Given the description of an element on the screen output the (x, y) to click on. 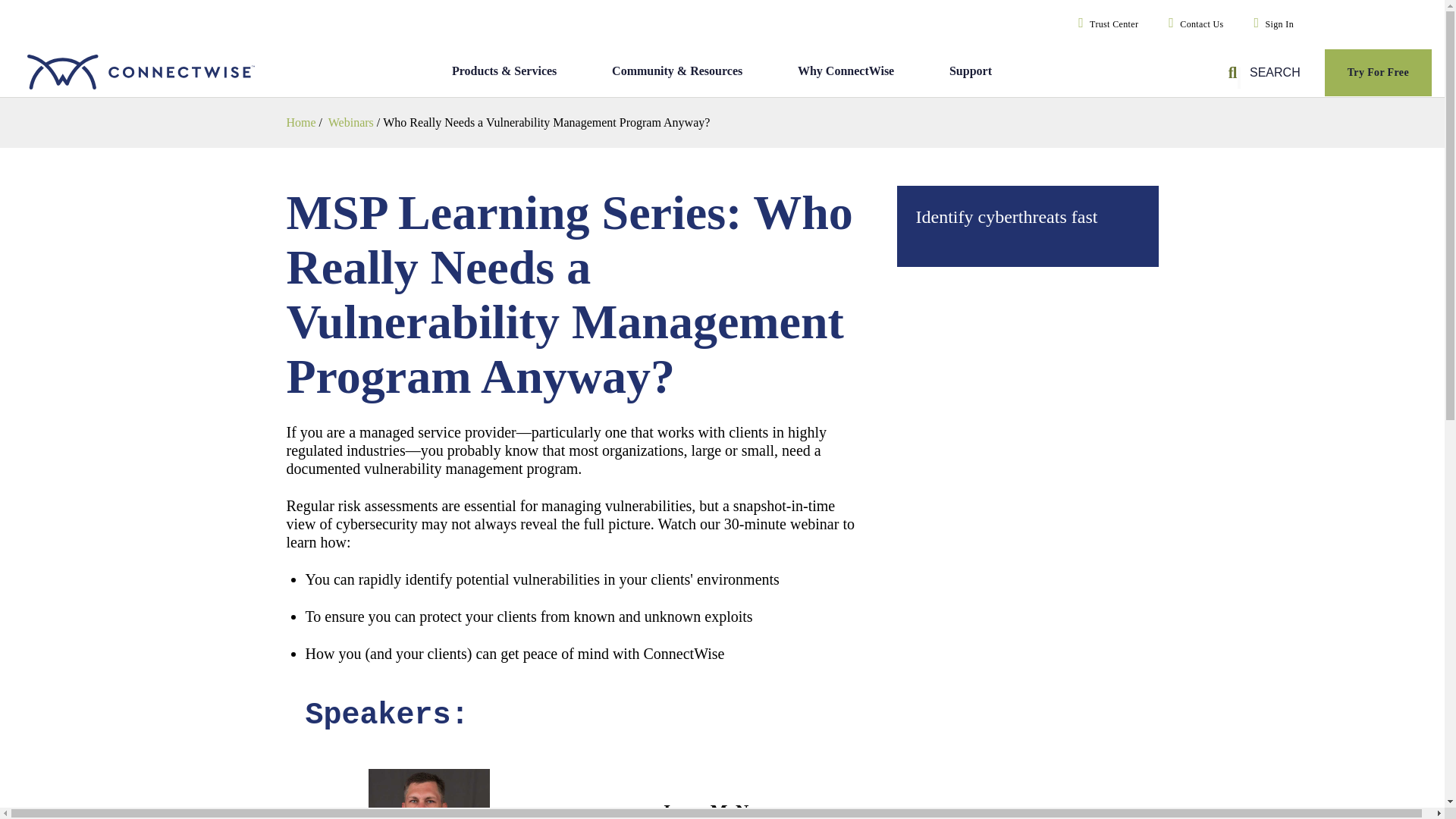
Trust Center (1104, 24)
Contact Us (1192, 24)
Trust Center (1104, 24)
Sign In (1270, 24)
Sign In (1270, 24)
ConnectWise Logo (155, 72)
Try For Free (1377, 72)
Contact Us (1192, 24)
SEARCH (1266, 72)
